Given the description of an element on the screen output the (x, y) to click on. 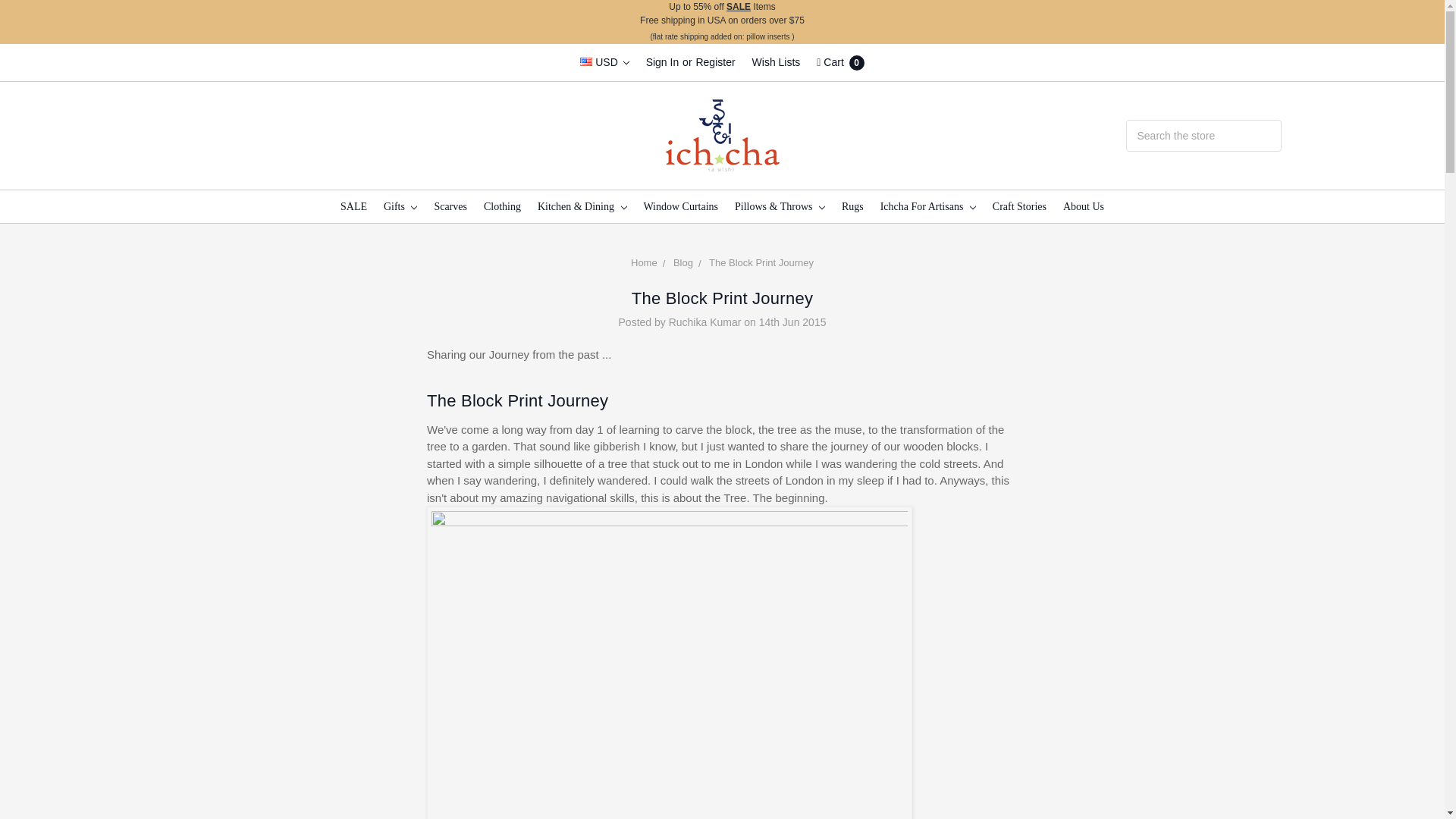
Cart 0 (840, 62)
Scarves (450, 206)
SALE (738, 6)
Ichcha (721, 135)
USD (604, 62)
Clothing (502, 206)
Sign In (662, 62)
Rugs (852, 206)
Register (714, 62)
Wish Lists (776, 62)
Gifts (400, 206)
Craft Stories (1019, 206)
SALE (353, 206)
Window Curtains (680, 206)
Ichcha For Artisans (928, 206)
